Given the description of an element on the screen output the (x, y) to click on. 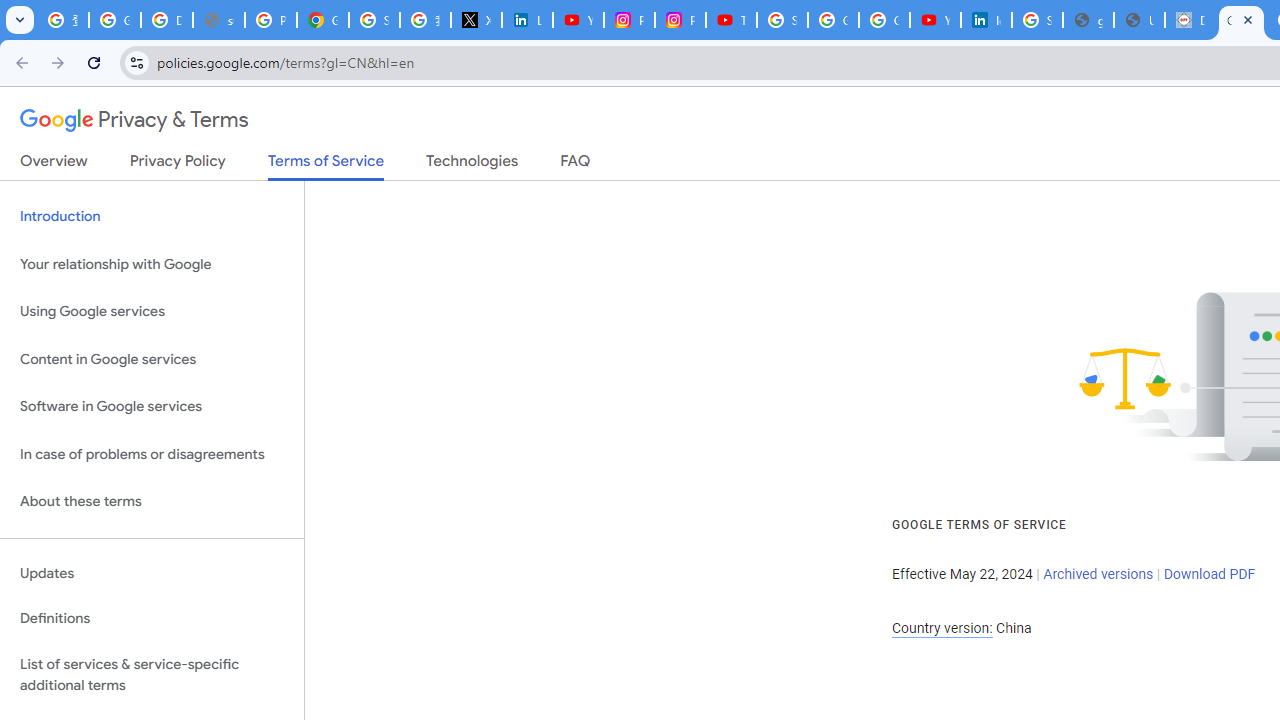
Content in Google services (152, 358)
Using Google services (152, 312)
Sign in - Google Accounts (781, 20)
Download PDF (1209, 574)
About these terms (152, 502)
